Given the description of an element on the screen output the (x, y) to click on. 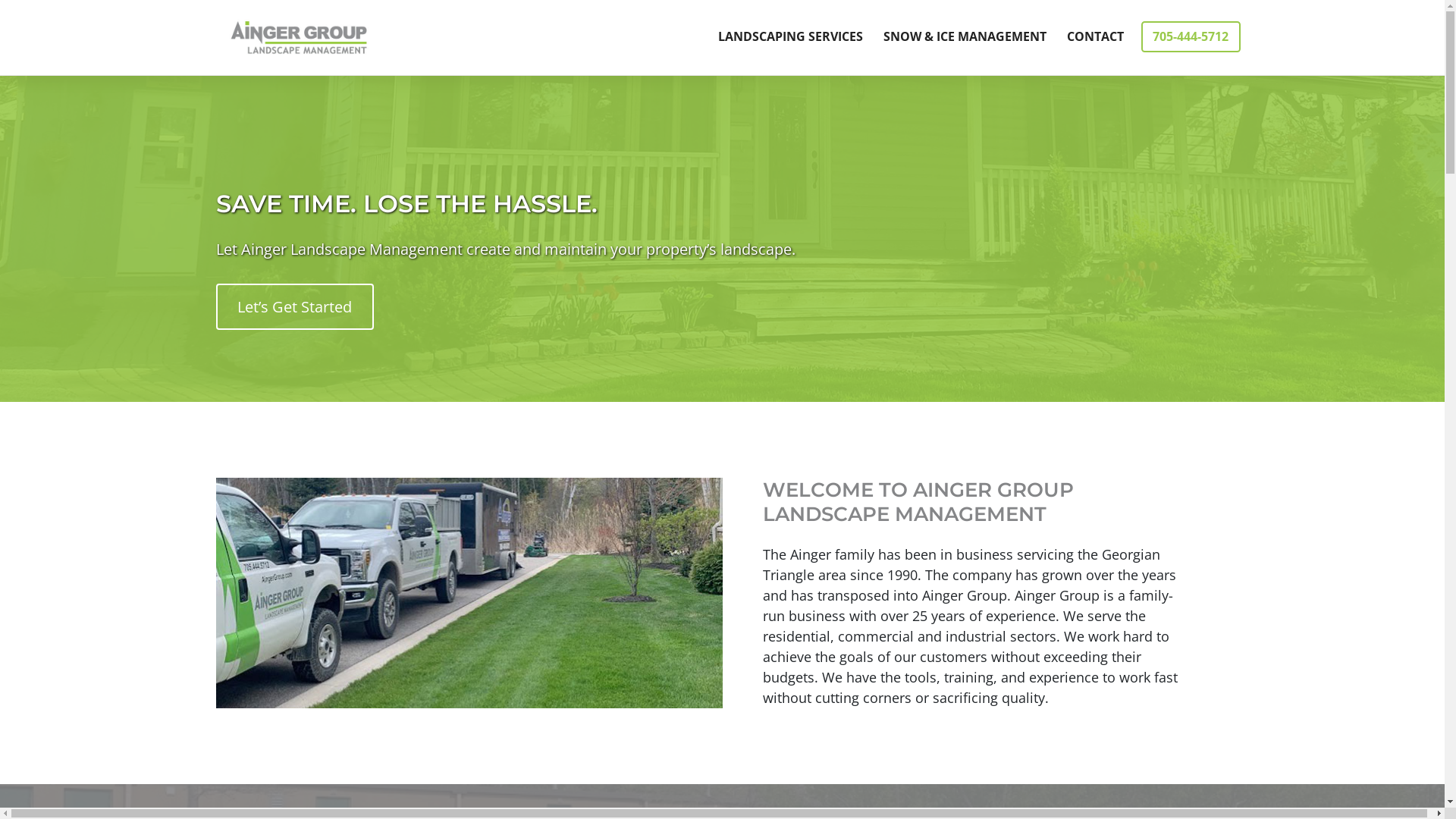
705-444-5712 Element type: text (1186, 23)
705-444-5712 Element type: text (1189, 36)
CONTACT Element type: text (1095, 36)
SNOW & ICE MANAGEMENT Element type: text (965, 36)
CONTACT Element type: text (1091, 24)
LANDSCAPING SERVICES Element type: text (786, 24)
LANDSCAPING SERVICES Element type: text (790, 36)
SNOW & ICE MANAGEMENT Element type: text (961, 24)
